Given the description of an element on the screen output the (x, y) to click on. 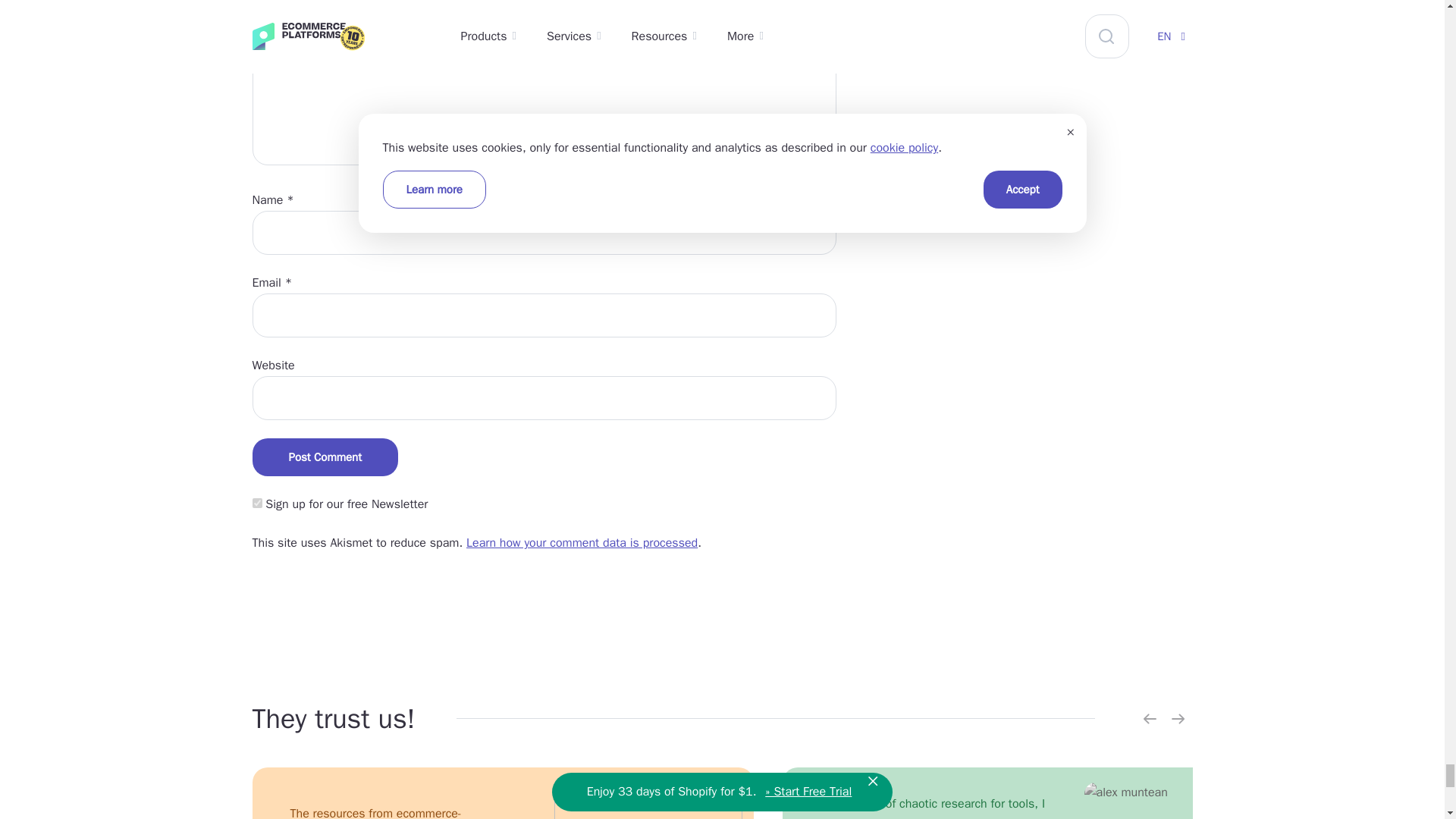
signup (256, 502)
